Given the description of an element on the screen output the (x, y) to click on. 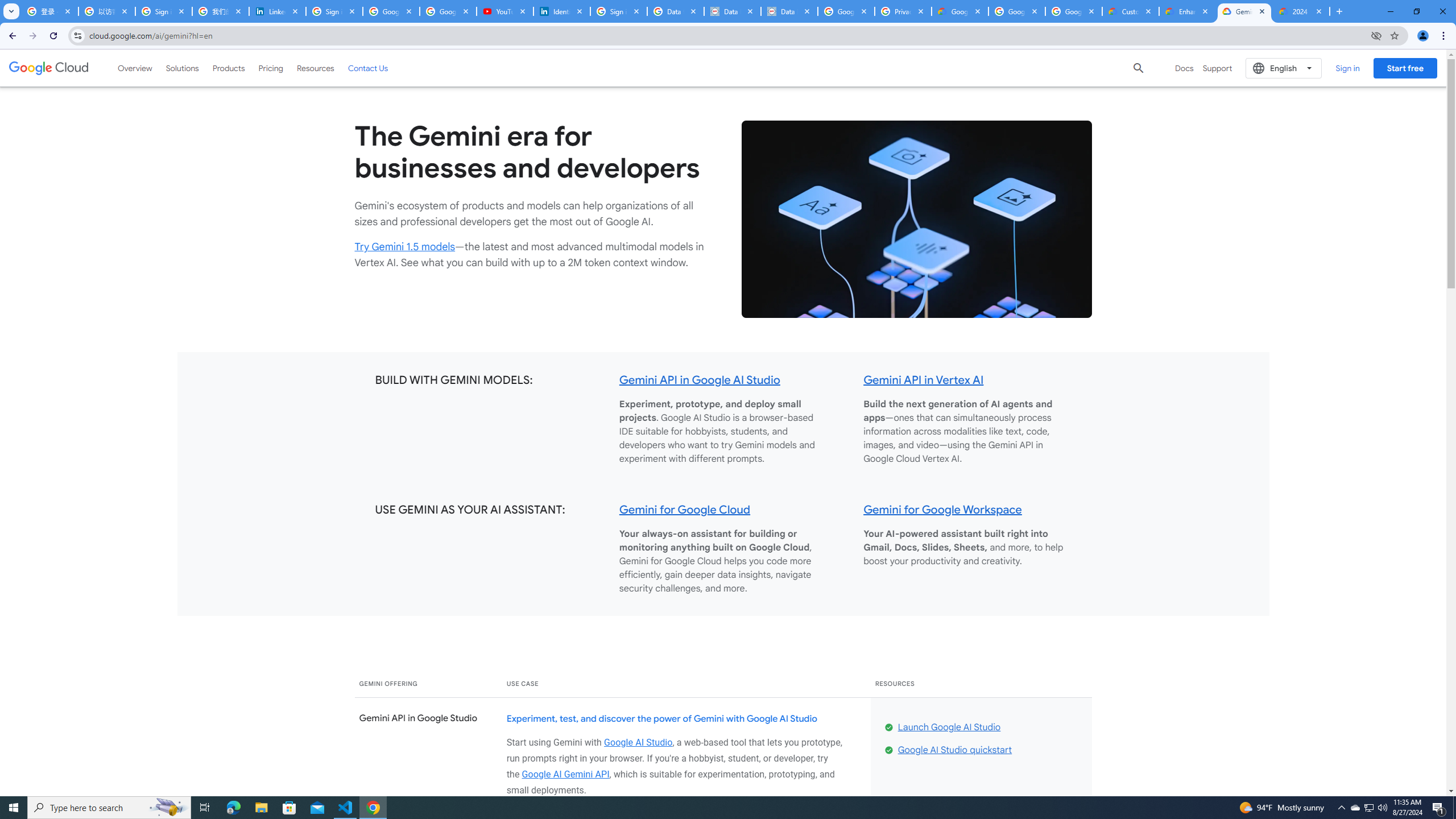
Google AI Studio quickstart (953, 749)
Pricing (270, 67)
Solutions (181, 67)
Docs (1183, 67)
Google Workspace - Specific Terms (1073, 11)
Gemini for Google Workspace (942, 509)
Customer Care | Google Cloud (1130, 11)
Gemini for Business and Developers | Google Cloud (1244, 11)
